Given the description of an element on the screen output the (x, y) to click on. 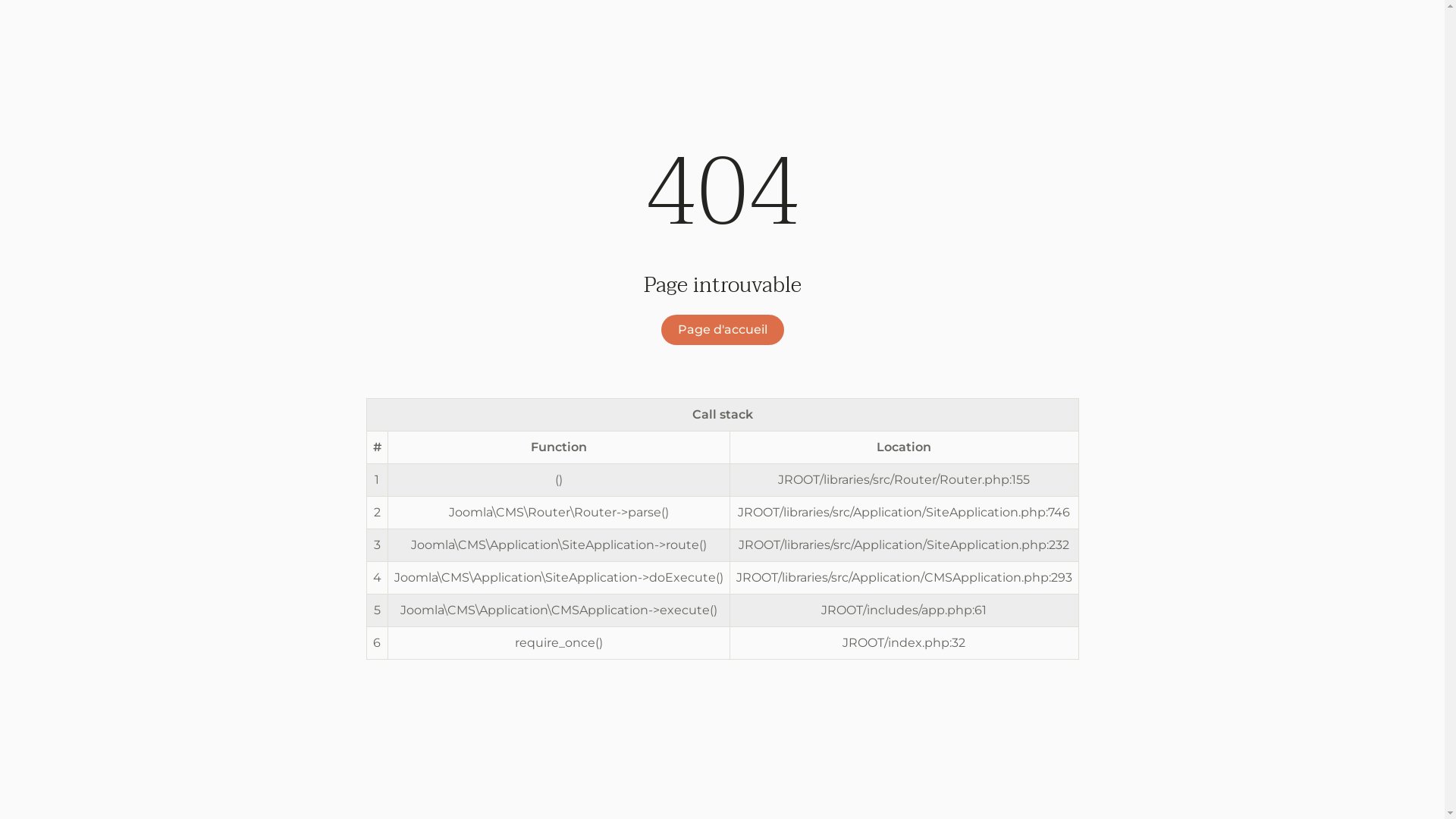
Page d'accueil Element type: text (722, 329)
